Given the description of an element on the screen output the (x, y) to click on. 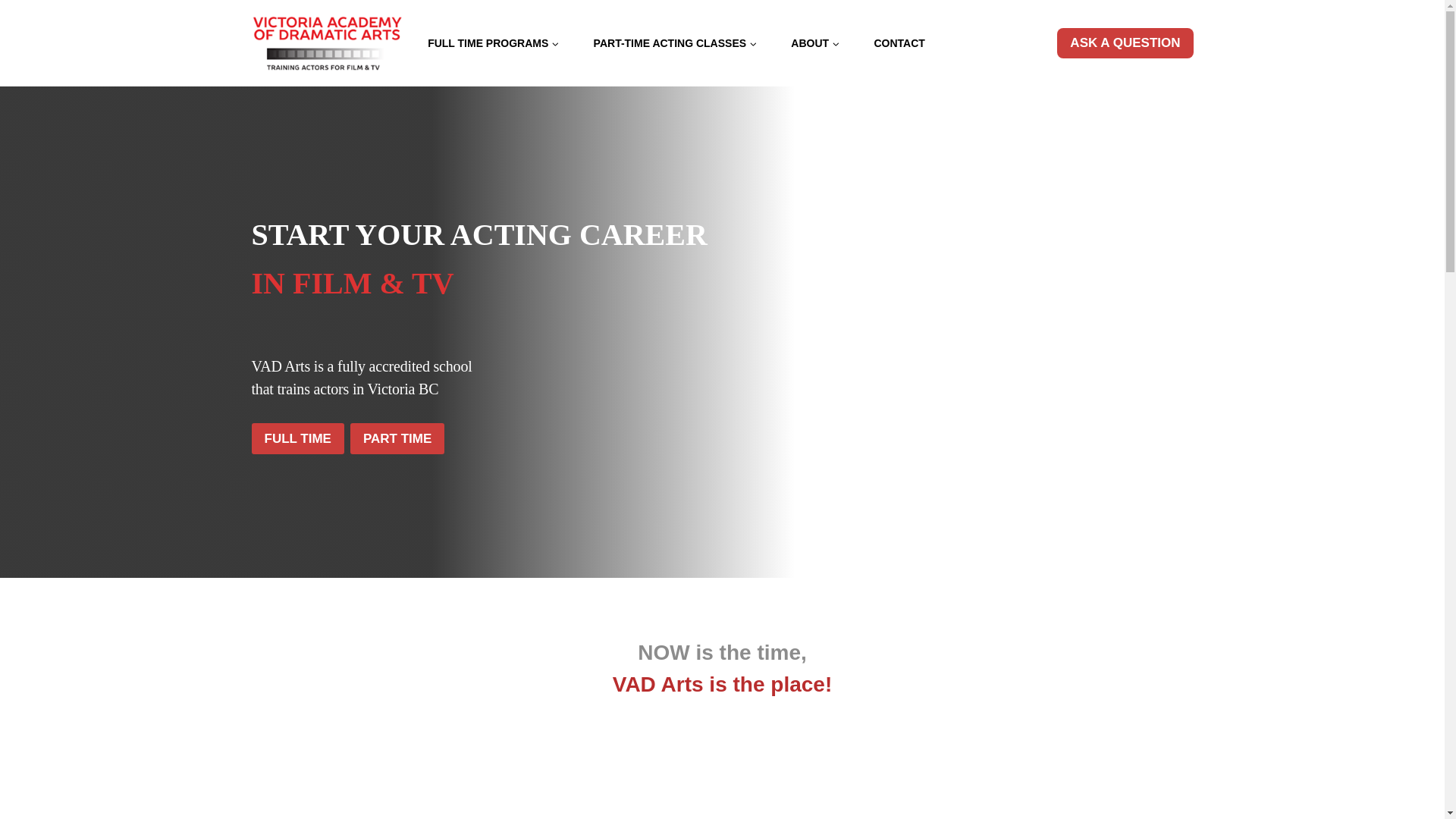
CONTACT (899, 42)
FULL TIME PROGRAMS (493, 42)
FULL TIME (297, 438)
ASK A QUESTION (1124, 42)
PART-TIME ACTING CLASSES (675, 42)
ABOUT (815, 42)
PART TIME (397, 438)
